Given the description of an element on the screen output the (x, y) to click on. 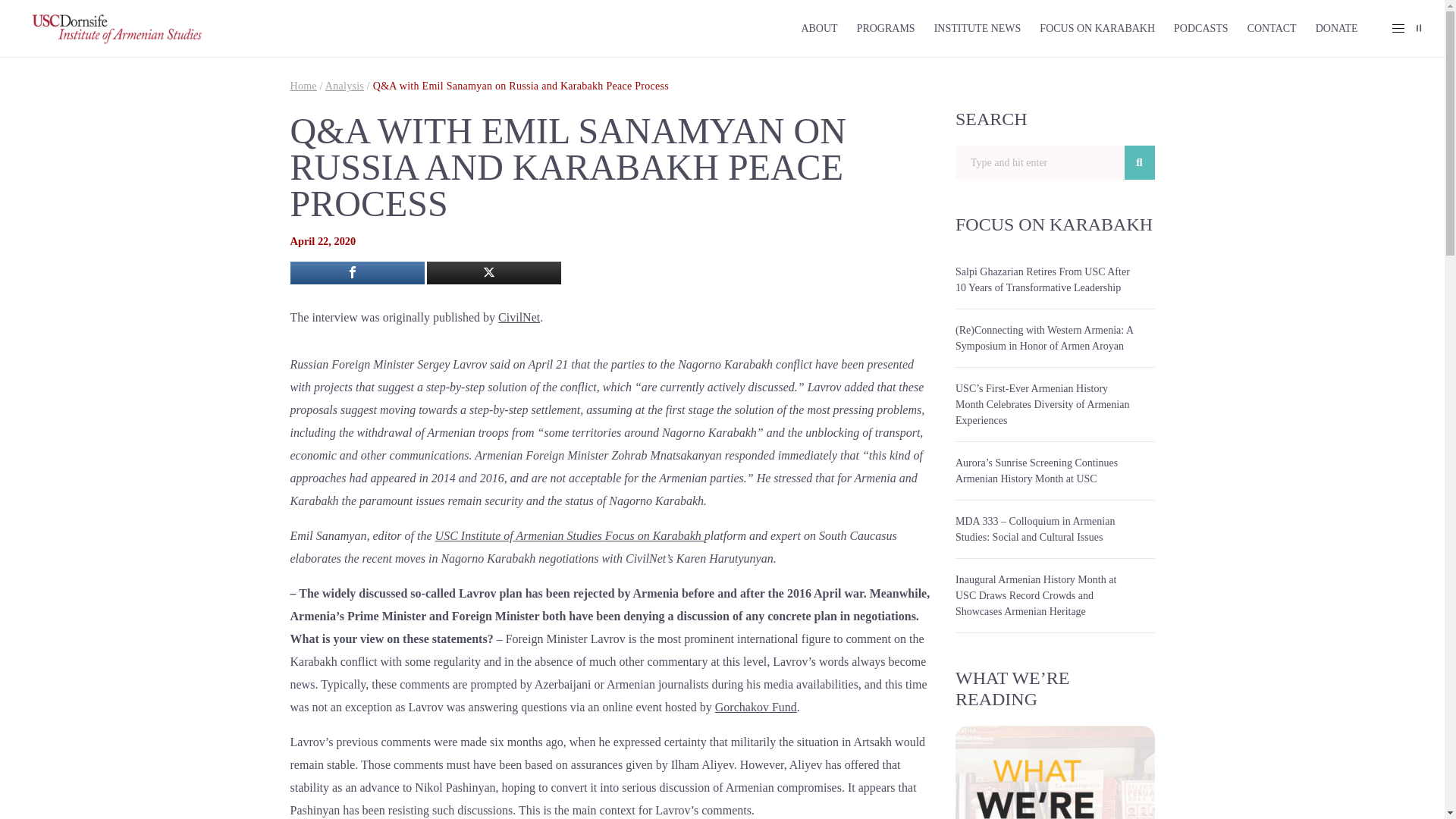
What We're Reading (1054, 772)
Tweet (493, 272)
Focus on Karabakh  (654, 535)
PODCASTS (1200, 28)
PROGRAMS (886, 28)
CivilNet (518, 317)
FOCUS ON KARABAKH (1096, 28)
Home (302, 85)
USC Institute of Armenian Studies  (520, 535)
